Given the description of an element on the screen output the (x, y) to click on. 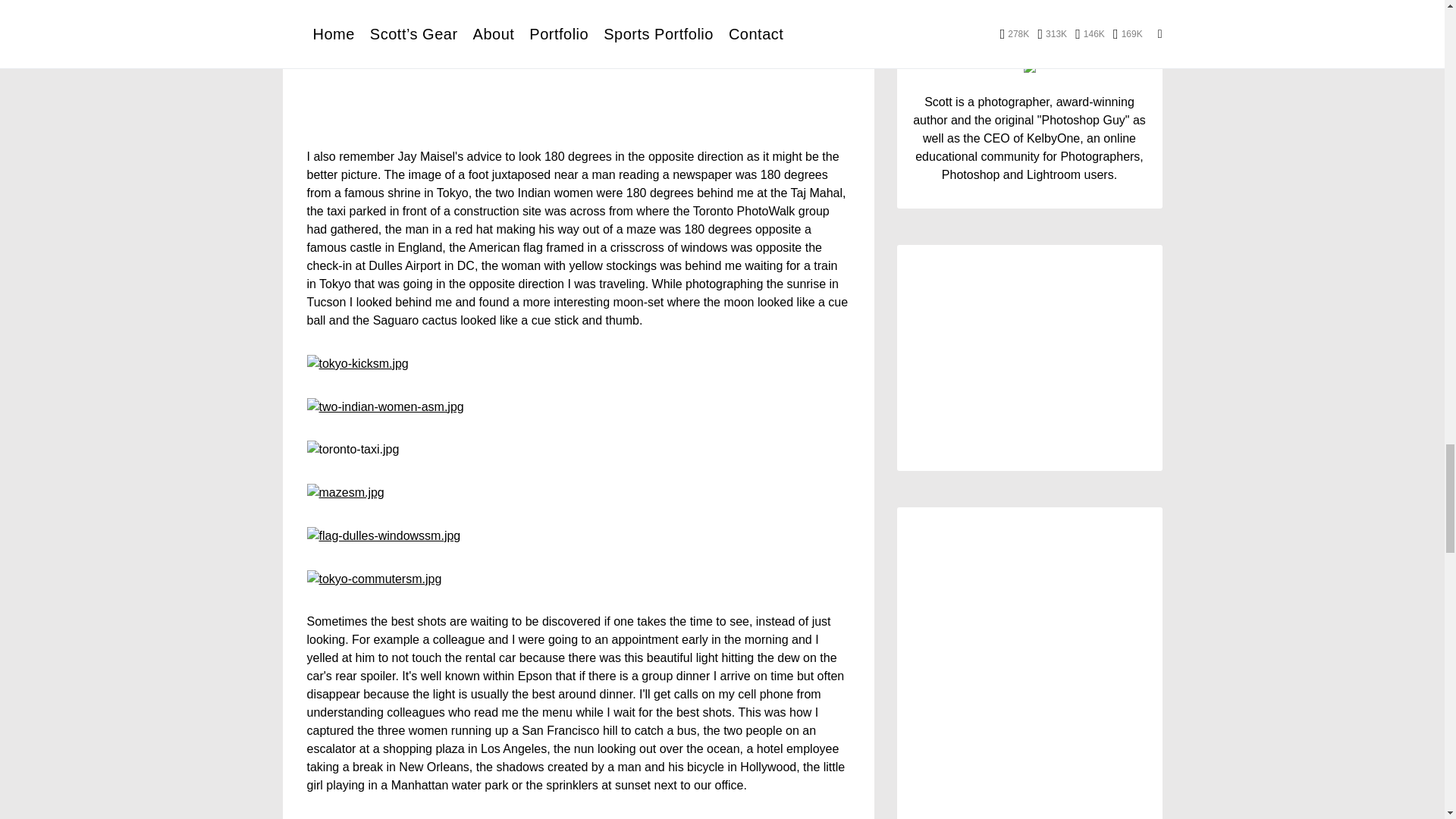
tokyo-commutersm.jpg (373, 577)
mazesm.jpg (344, 491)
tokyo-kicksm.jpg (356, 362)
flag-dulles-windowssm.jpg (382, 534)
two-indian-women-asm.jpg (384, 405)
